Given the description of an element on the screen output the (x, y) to click on. 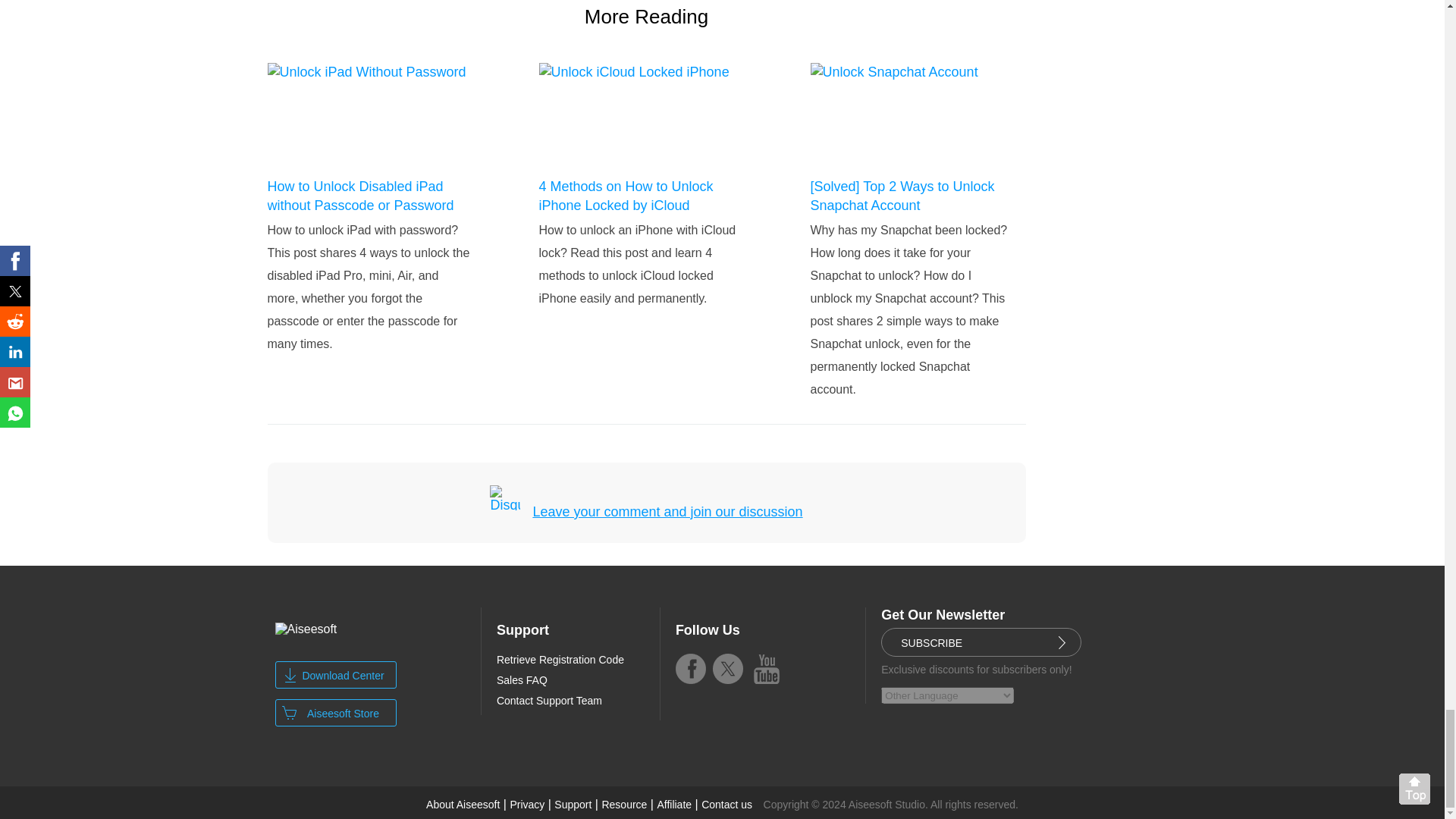
4 Methods on How to Unlock iPhone Locked by iCloud (640, 196)
How to Unlock Disabled iPad without Passcode or Password (368, 196)
